Given the description of an element on the screen output the (x, y) to click on. 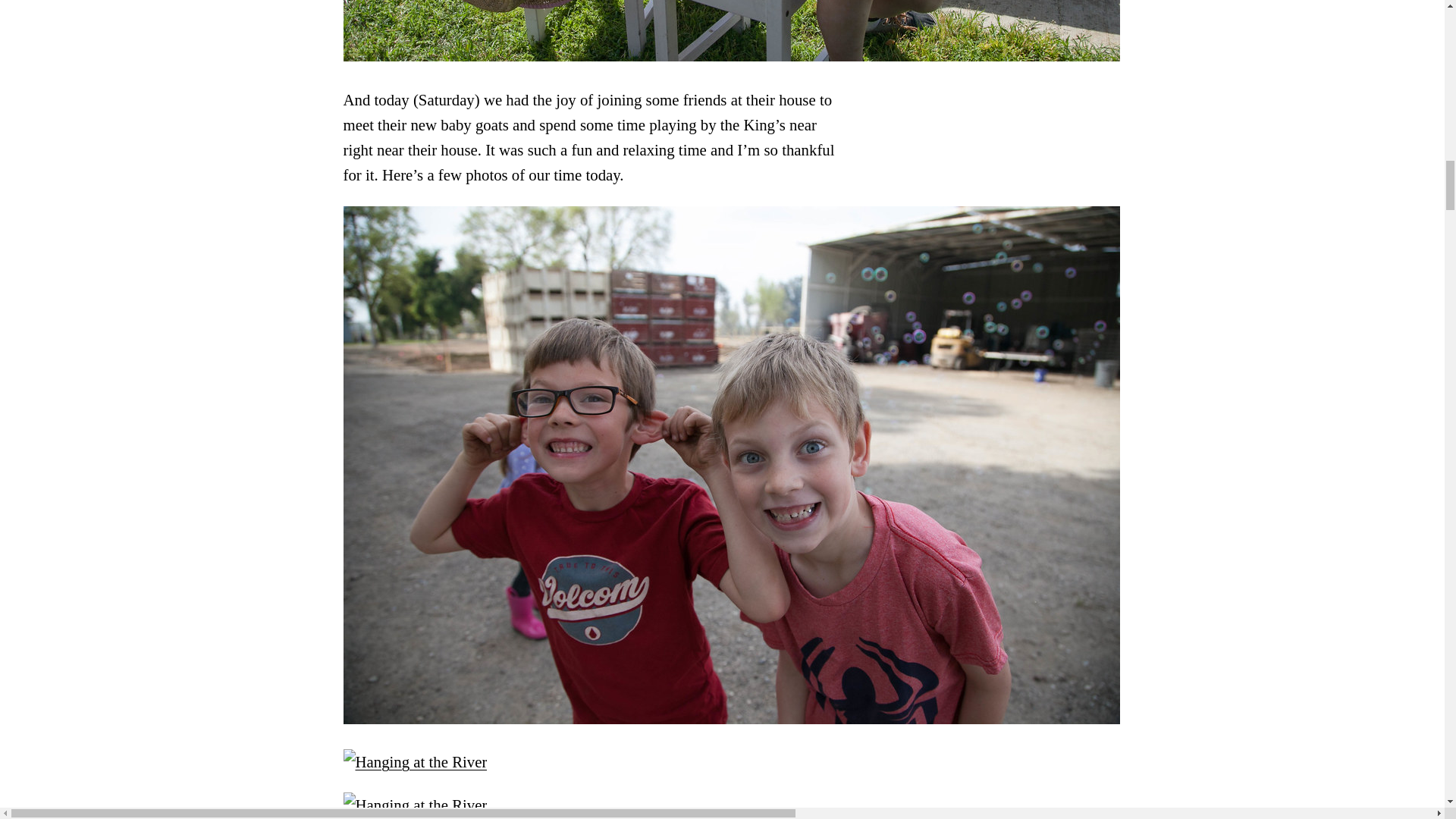
Avery's Lemonade Stand (730, 55)
Hanging at the River (414, 805)
Hanging at the River (730, 718)
Hanging at the River (414, 761)
